Given the description of an element on the screen output the (x, y) to click on. 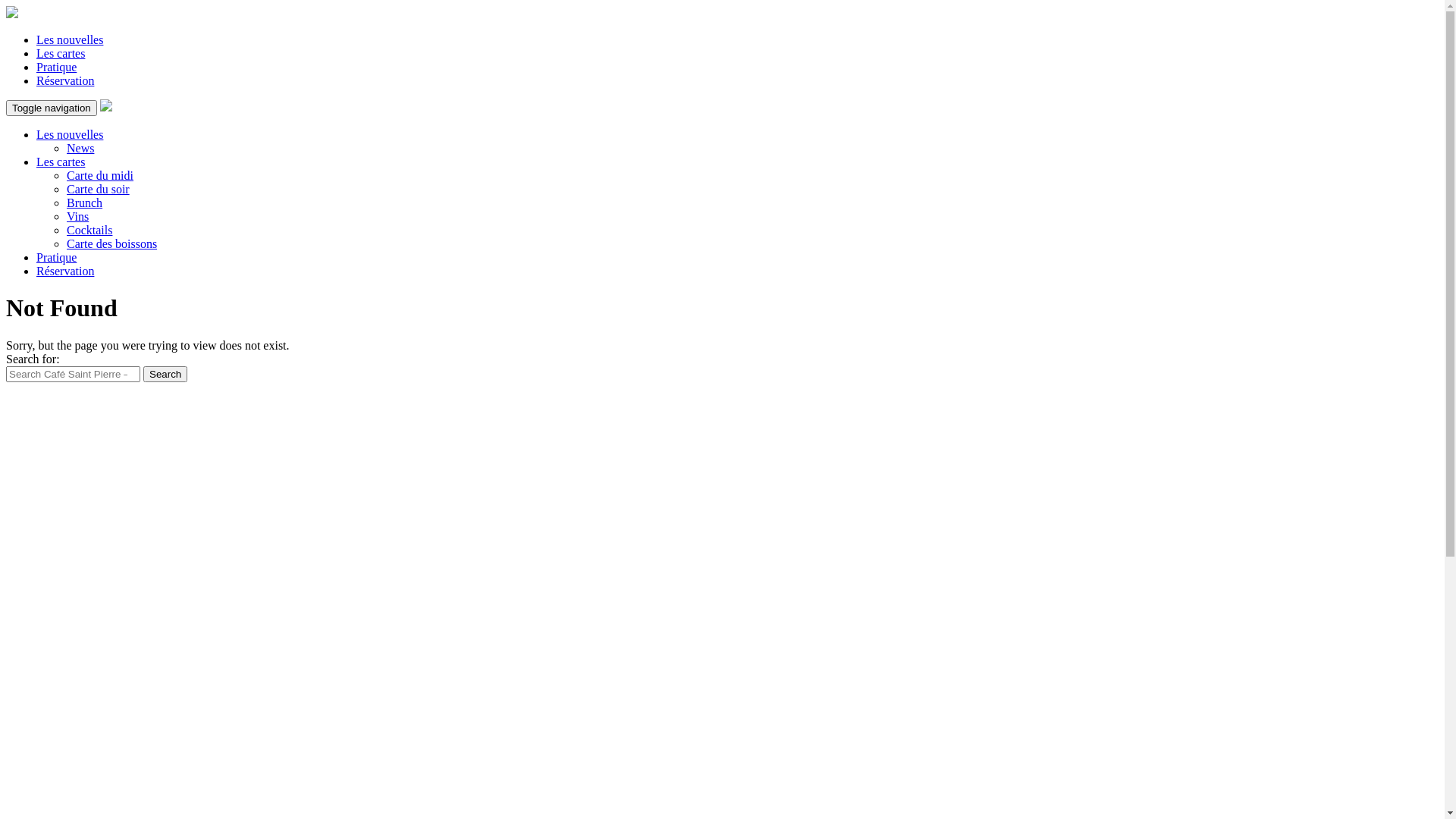
Pratique Element type: text (56, 257)
Carte du midi Element type: text (99, 175)
Cocktails Element type: text (89, 229)
Vins Element type: text (77, 216)
News Element type: text (80, 147)
Carte du soir Element type: text (97, 188)
Saint-Pierre Element type: hover (106, 106)
Les nouvelles Element type: text (69, 134)
Les nouvelles Element type: text (69, 39)
Les cartes Element type: text (60, 161)
Carte des boissons Element type: text (111, 243)
Search Element type: text (165, 374)
Les cartes Element type: text (60, 53)
Brunch Element type: text (84, 202)
Toggle navigation Element type: text (51, 108)
Pratique Element type: text (56, 66)
